Given the description of an element on the screen output the (x, y) to click on. 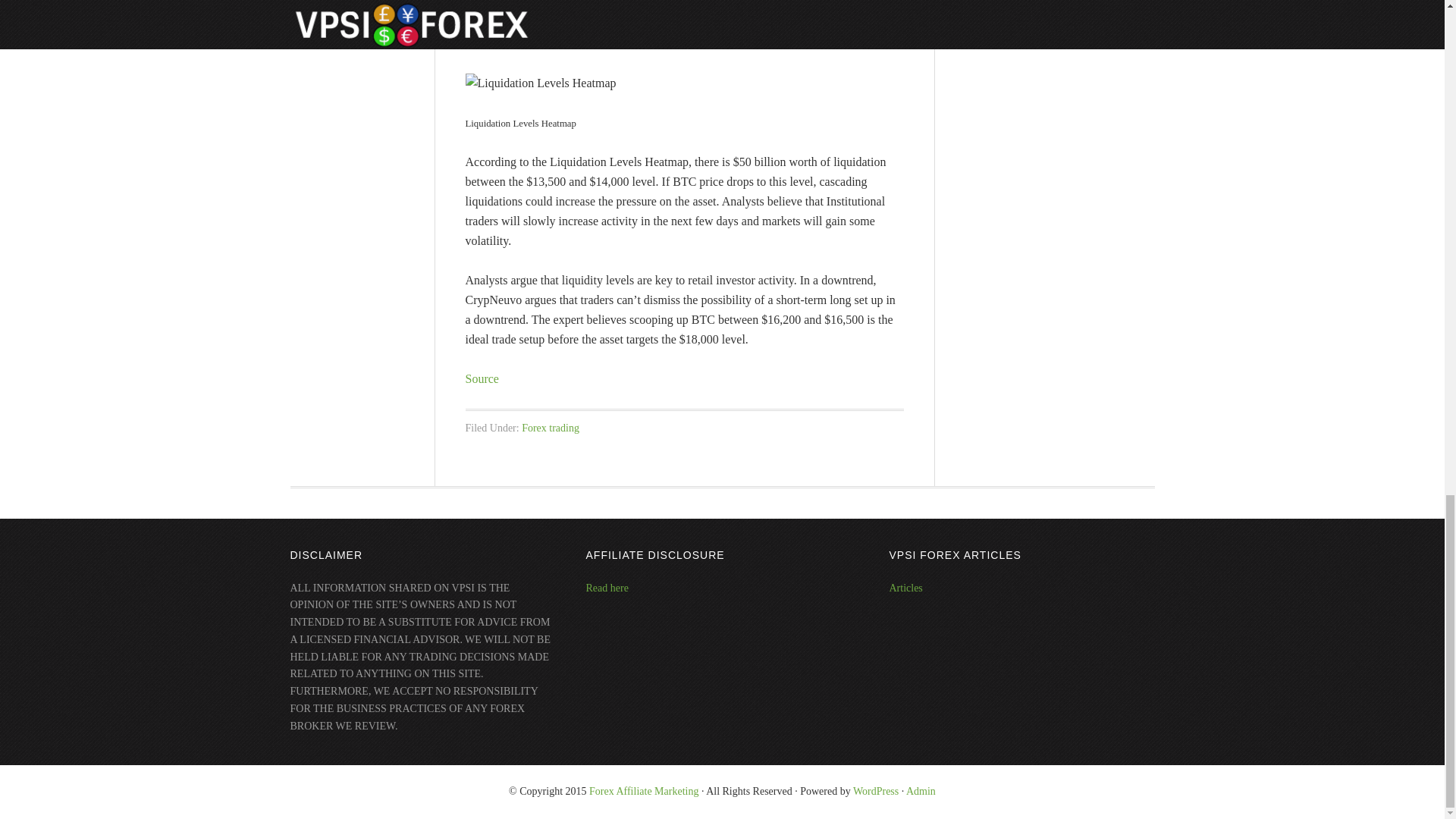
Forex trading (550, 428)
Admin (920, 790)
Source (482, 378)
Read here (606, 587)
Forex Affiliate Marketing (643, 790)
Articles (904, 587)
WordPress (875, 790)
